Given the description of an element on the screen output the (x, y) to click on. 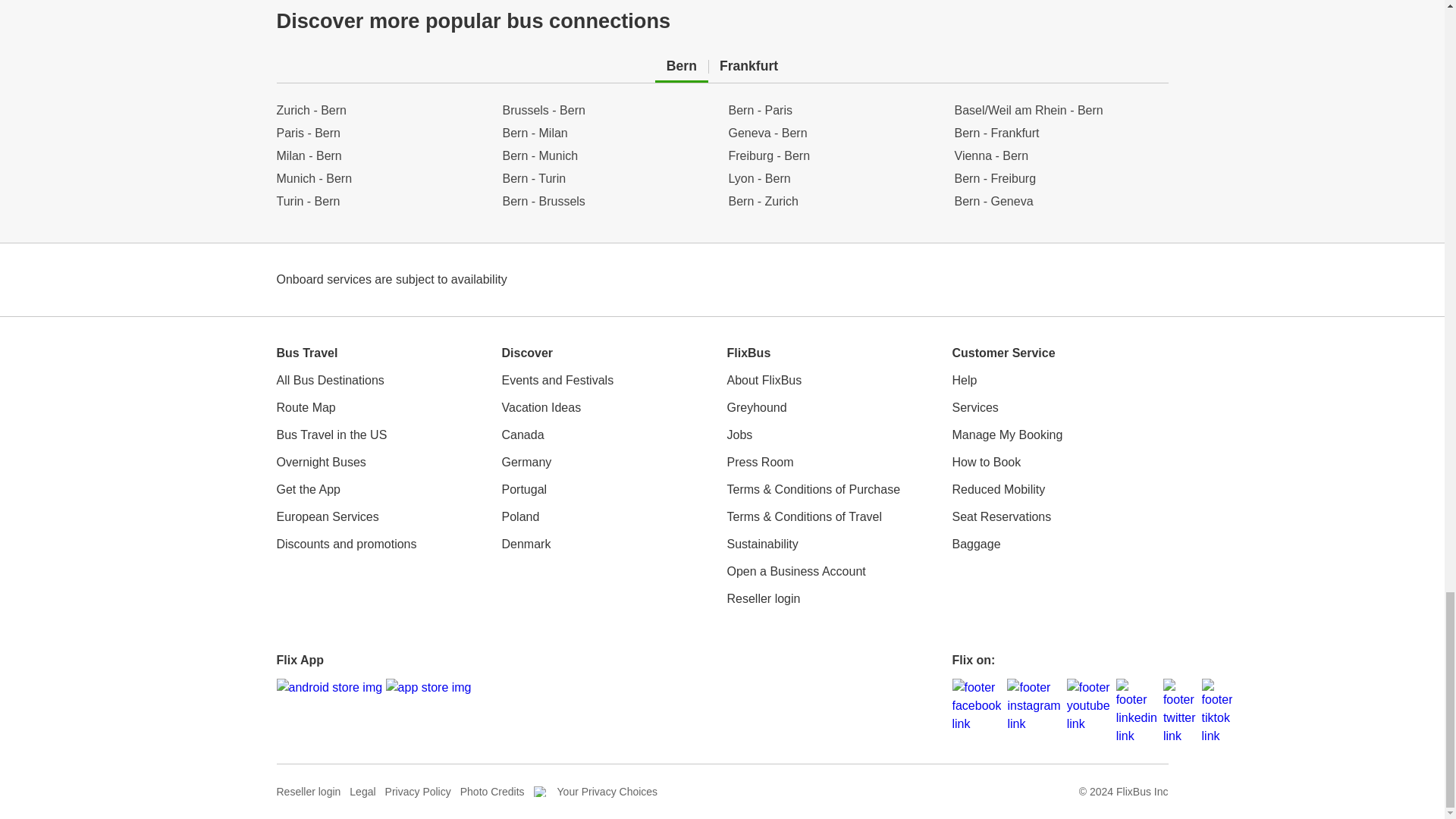
Zurich - Bern (382, 110)
Paris - Bern (382, 133)
Frankfurt (748, 65)
Bern (680, 65)
